Given the description of an element on the screen output the (x, y) to click on. 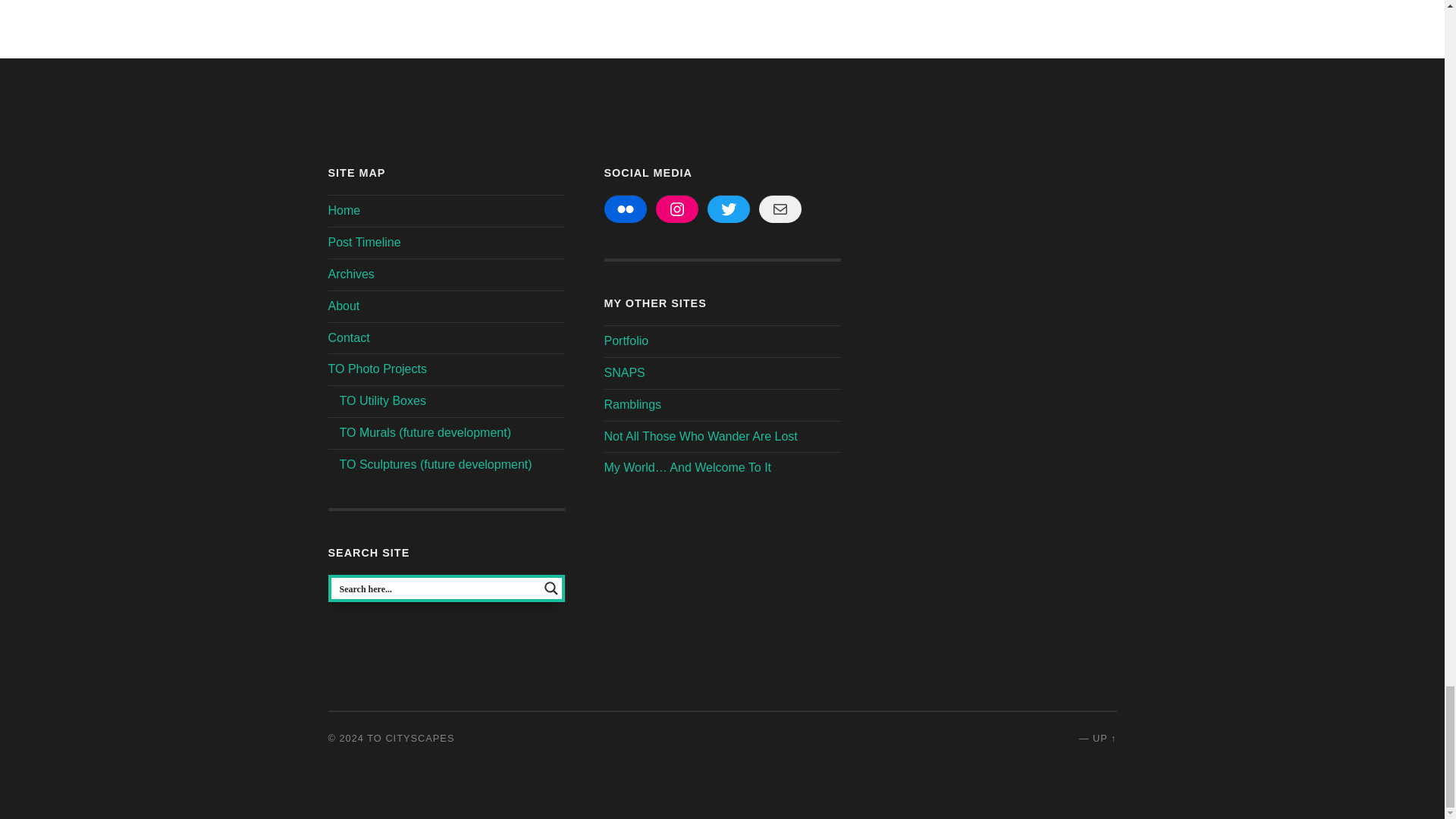
To the top (1104, 737)
